Given the description of an element on the screen output the (x, y) to click on. 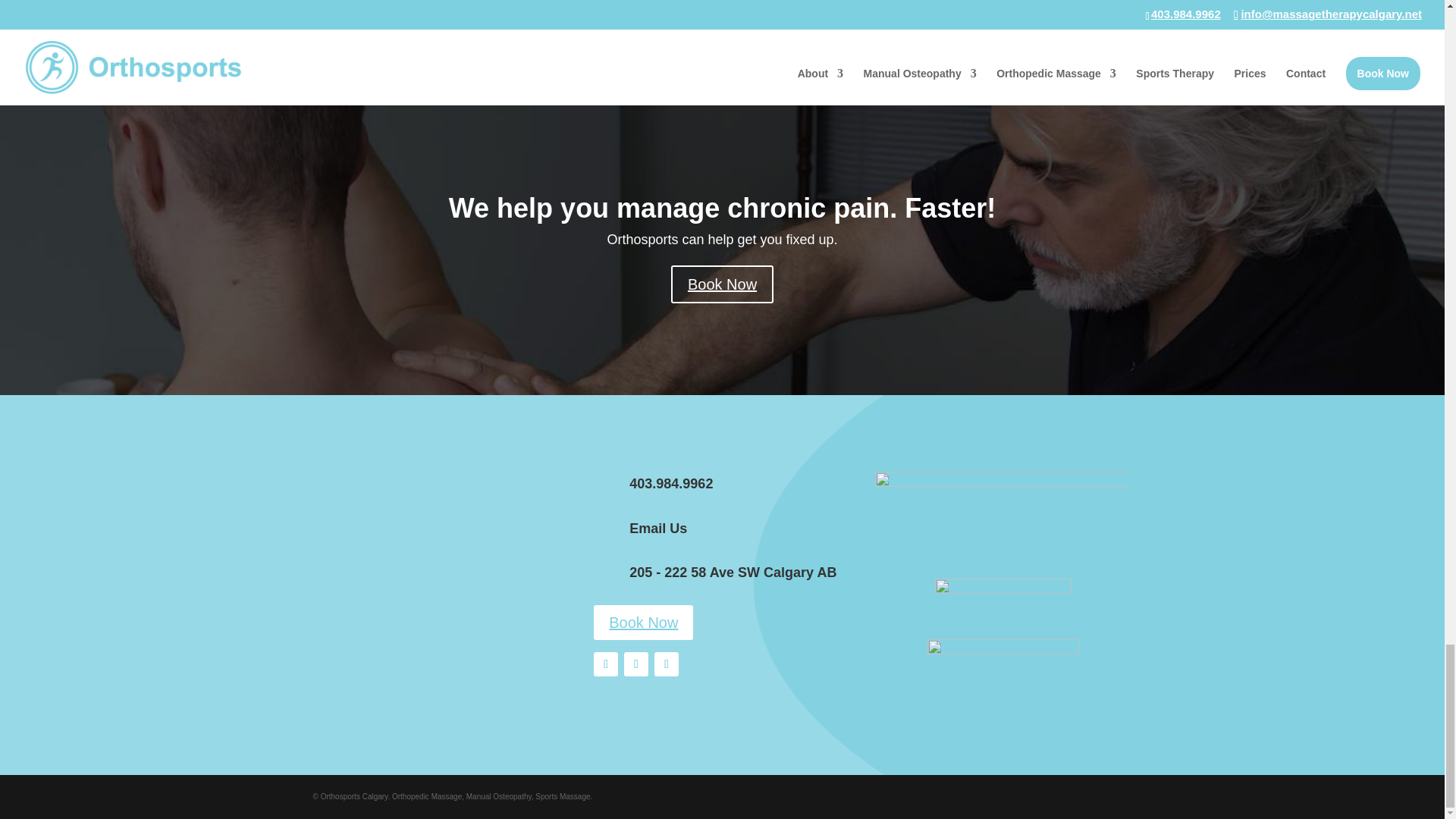
Follow on Youtube (665, 663)
Follow on Facebook (605, 663)
Follow on Instagram (635, 663)
3badges (1003, 518)
google200 (1002, 676)
badge-blue (1002, 602)
